Given the description of an element on the screen output the (x, y) to click on. 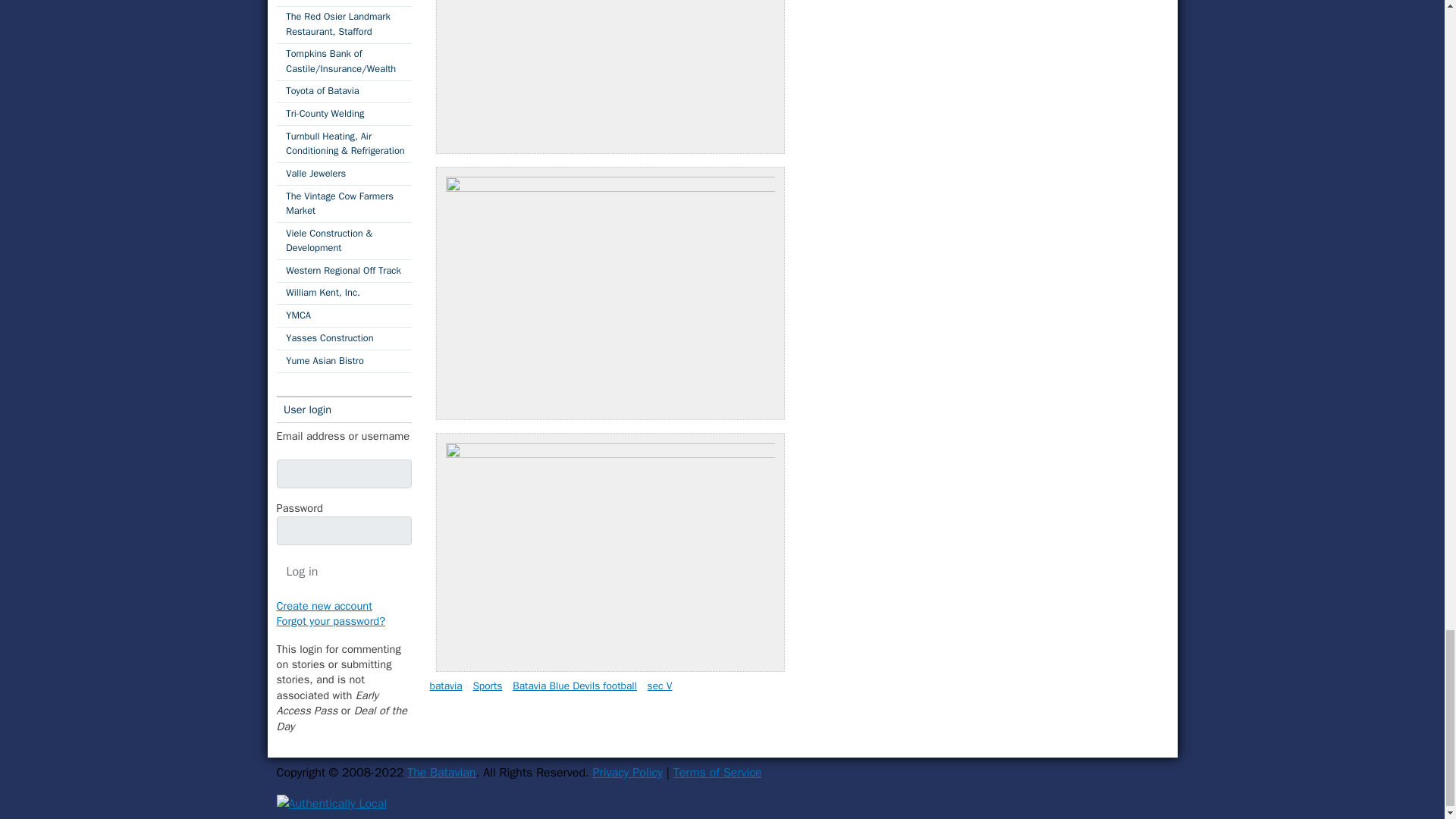
batavia (445, 685)
sec V (659, 685)
Sports (486, 685)
Batavia Blue Devils football (574, 685)
